Given the description of an element on the screen output the (x, y) to click on. 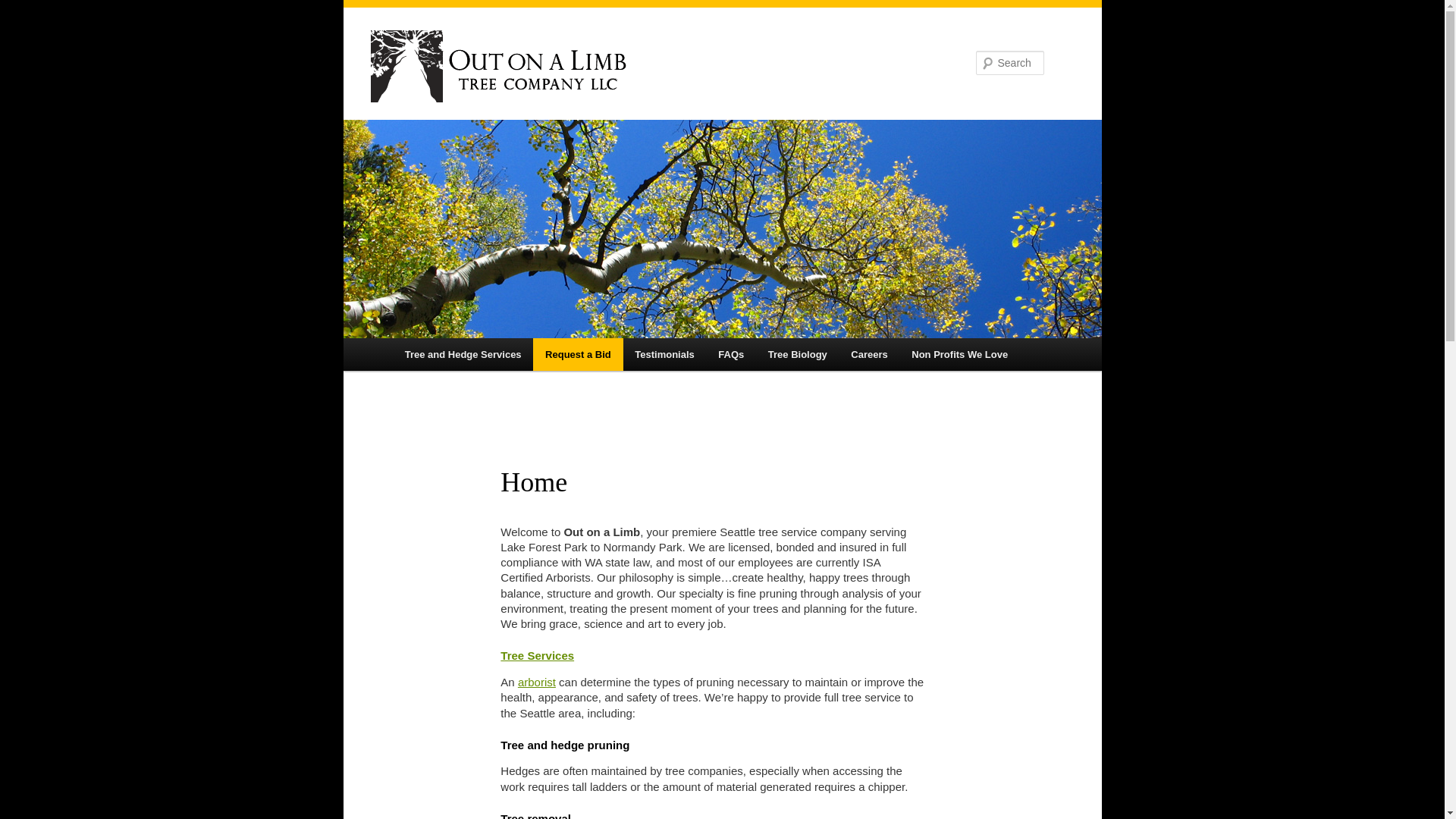
FAQs (730, 354)
Careers (869, 354)
Search (24, 8)
Tree Services (536, 655)
Out on a Limb Seattle (619, 66)
arborist (537, 681)
Non Profits We Love (959, 354)
Tree and Hedge Services (462, 354)
Tree Biology (797, 354)
Frequently Asked Questions (730, 354)
Testimonials (664, 354)
Request a Bid (577, 354)
